Given the description of an element on the screen output the (x, y) to click on. 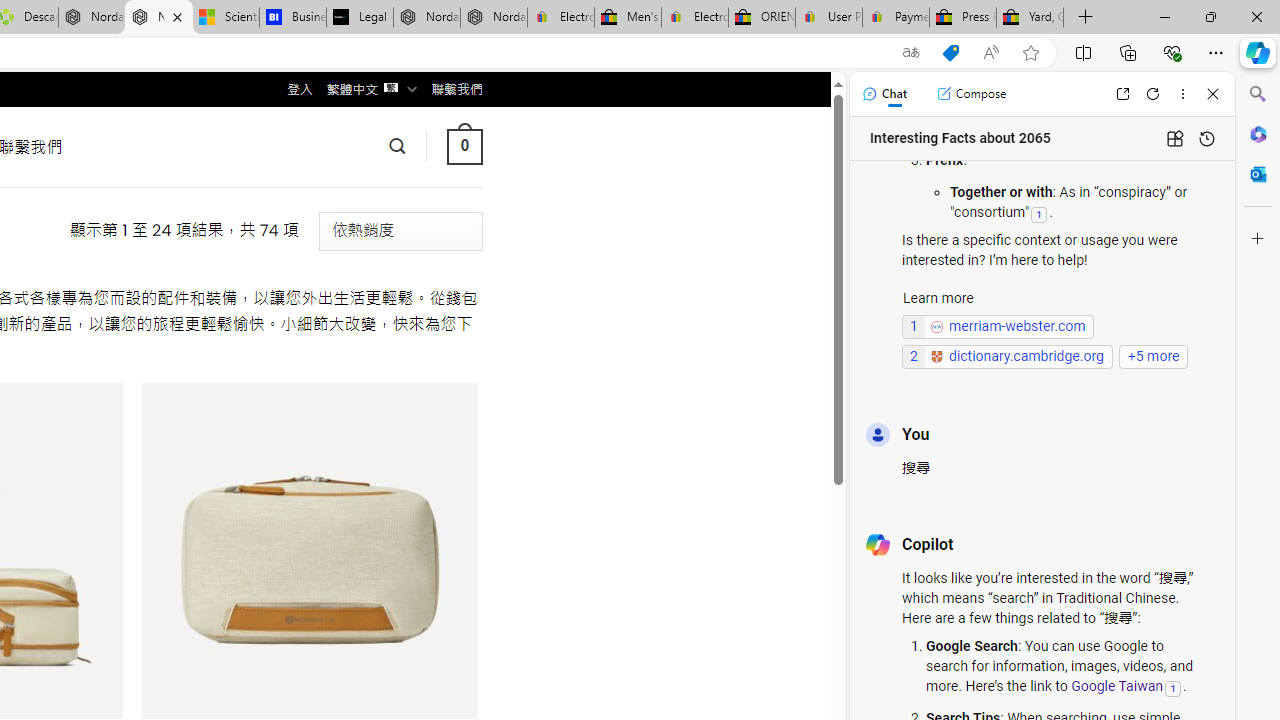
User Privacy Notice | eBay (828, 17)
  0   (464, 146)
Chat (884, 93)
Press Room - eBay Inc. (962, 17)
